Given the description of an element on the screen output the (x, y) to click on. 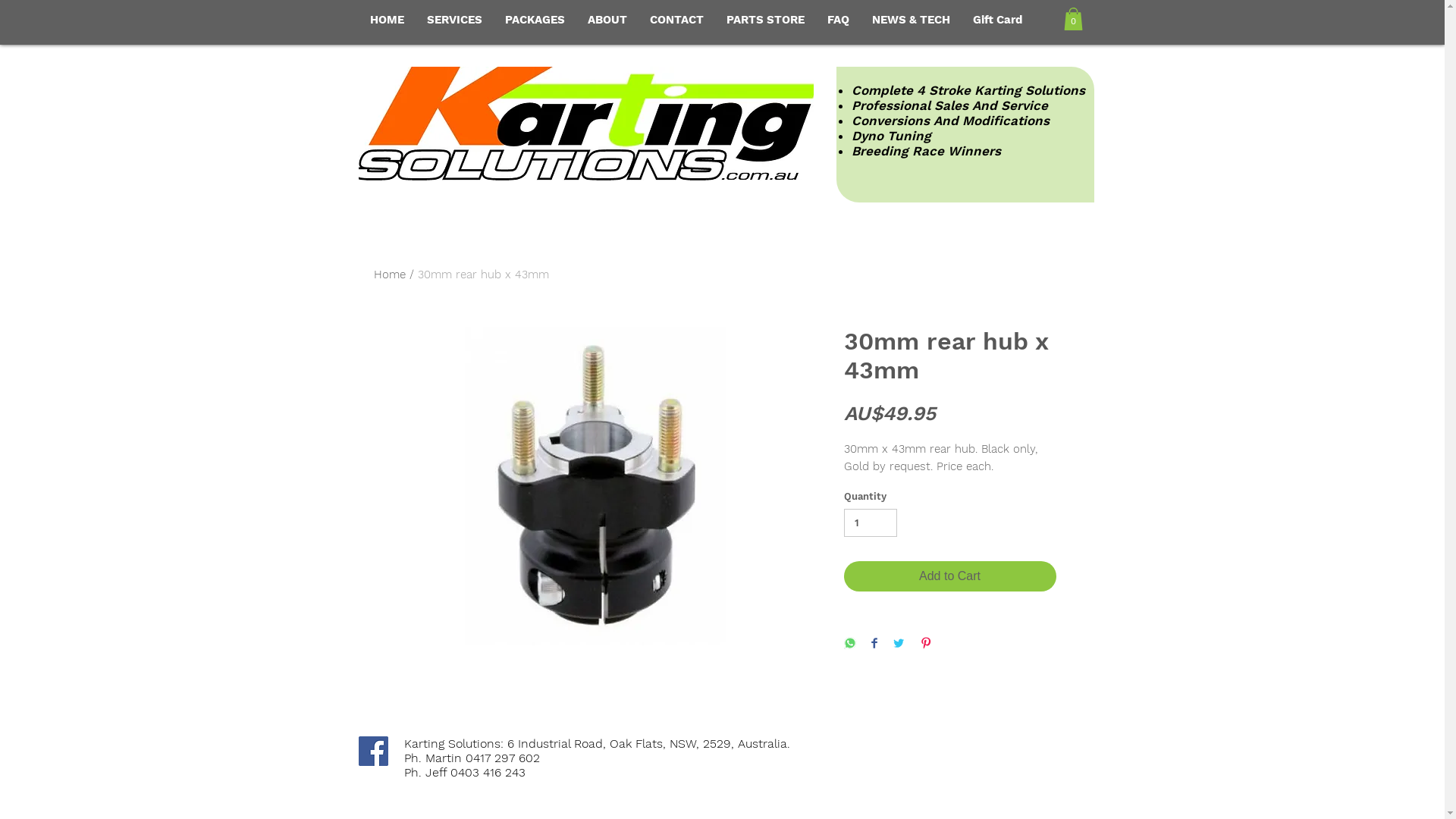
Site Search Element type: hover (1154, 22)
30mm rear hub x 43mm Element type: text (482, 274)
Home Element type: text (388, 274)
SERVICES Element type: text (454, 19)
FAQ Element type: text (837, 19)
0 Element type: text (1072, 18)
PARTS STORE Element type: text (764, 19)
PACKAGES Element type: text (533, 19)
HOME Element type: text (385, 19)
Add to Cart Element type: text (949, 576)
CONTACT Element type: text (676, 19)
Gift Card Element type: text (997, 19)
NEWS & TECH Element type: text (909, 19)
ABOUT Element type: text (607, 19)
